Given the description of an element on the screen output the (x, y) to click on. 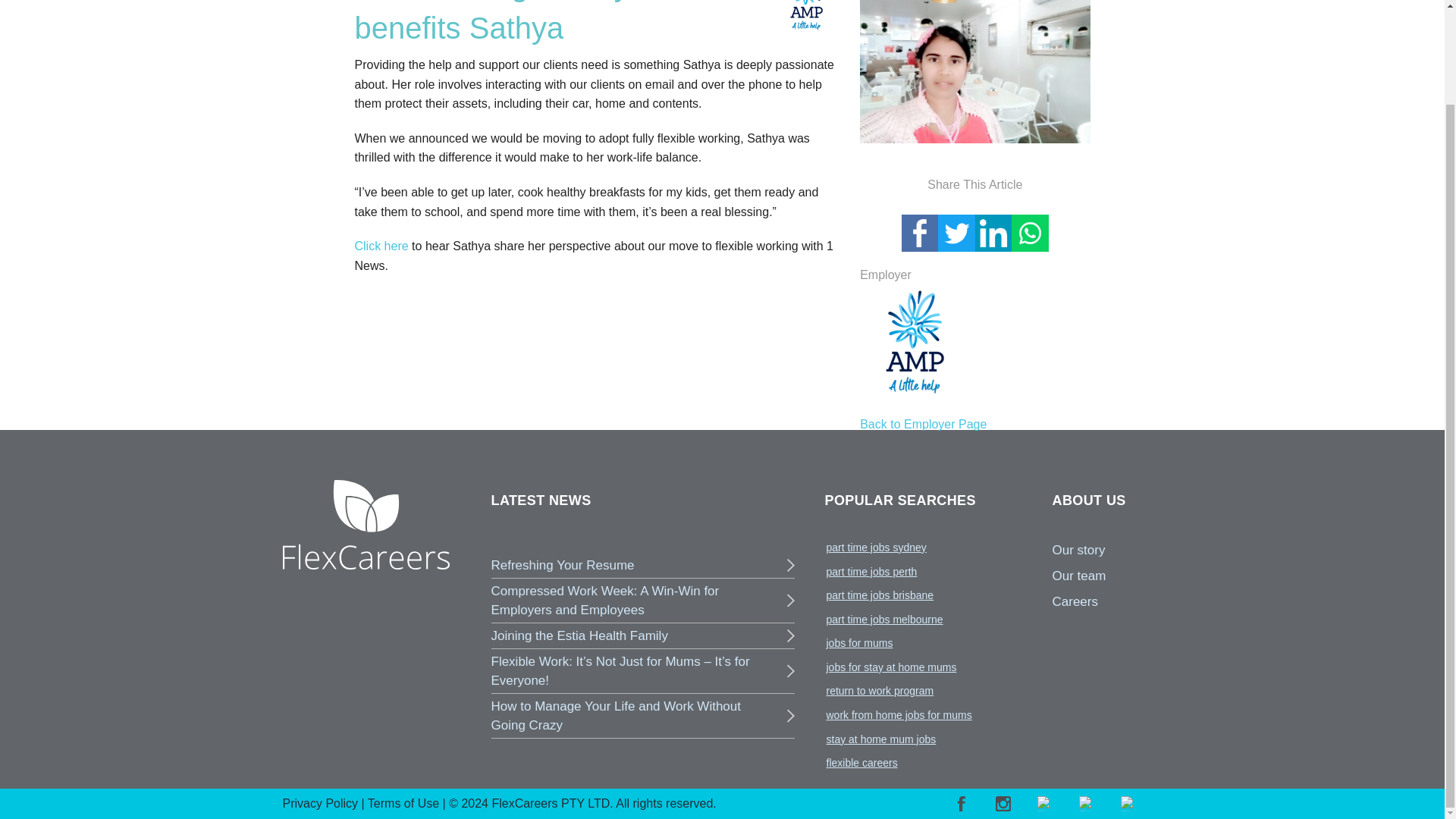
Compressed Work Week: A Win-Win for Employers and Employees (643, 600)
Click here (382, 245)
Back to Employer Page (923, 423)
Joining the Estia Health Family (643, 635)
AMP Wealth Management New Zealand (806, 15)
Refreshing Your Resume (643, 565)
AMP Wealth Management New Zealand (914, 341)
